Given the description of an element on the screen output the (x, y) to click on. 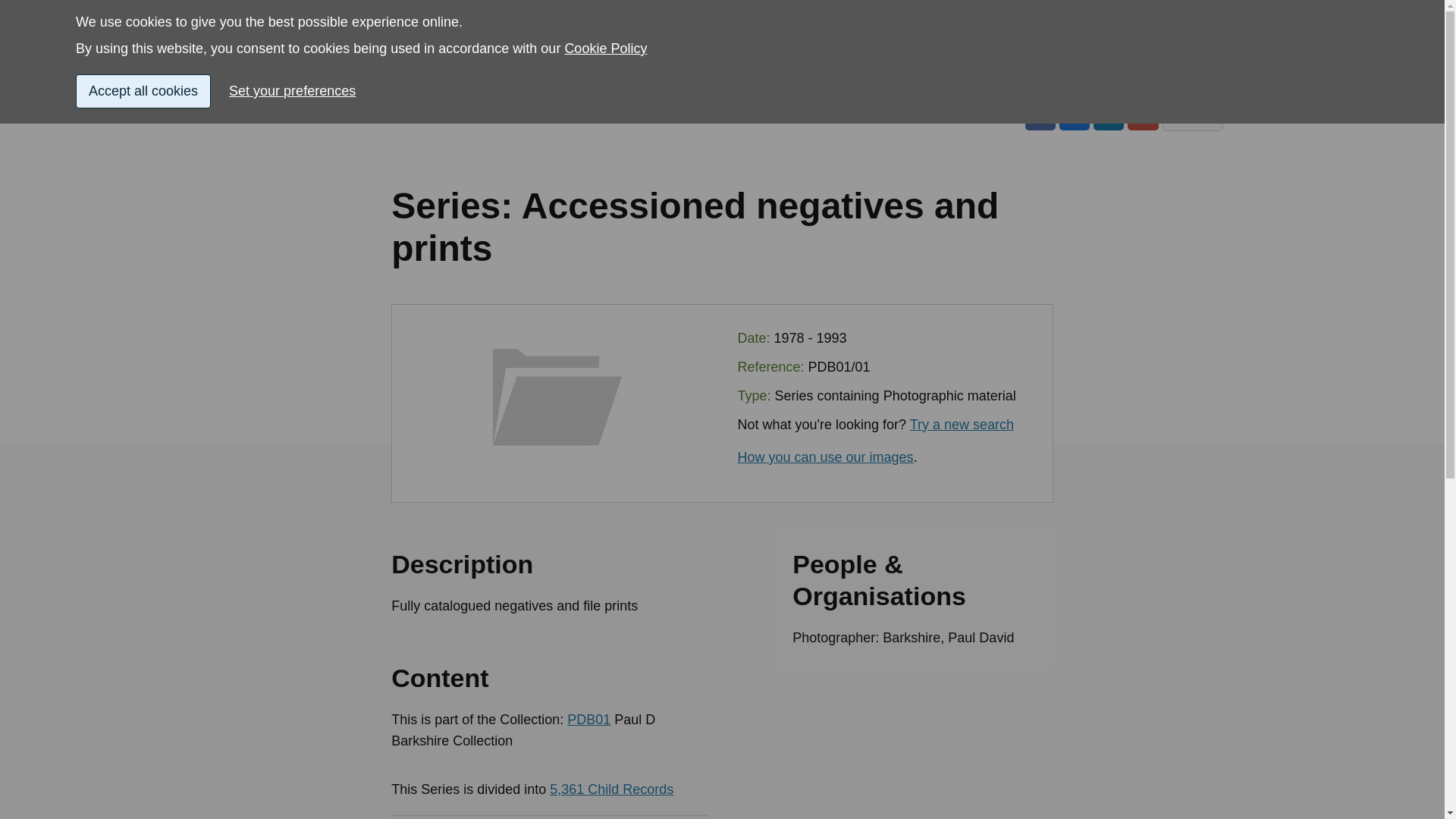
Advice (373, 82)
Research (513, 82)
Share this page on Twitter (1073, 114)
Print this page (1192, 115)
Search Historic England (1150, 36)
Search the site (1150, 36)
Share this page by Email (1141, 114)
About Us (1197, 82)
Listing (239, 82)
Share this page on LinkedIn (1108, 114)
Sign in (1032, 36)
What's New (1042, 82)
Historic England - home page (299, 36)
Accept all cookies (143, 28)
Set your preferences (298, 38)
